Given the description of an element on the screen output the (x, y) to click on. 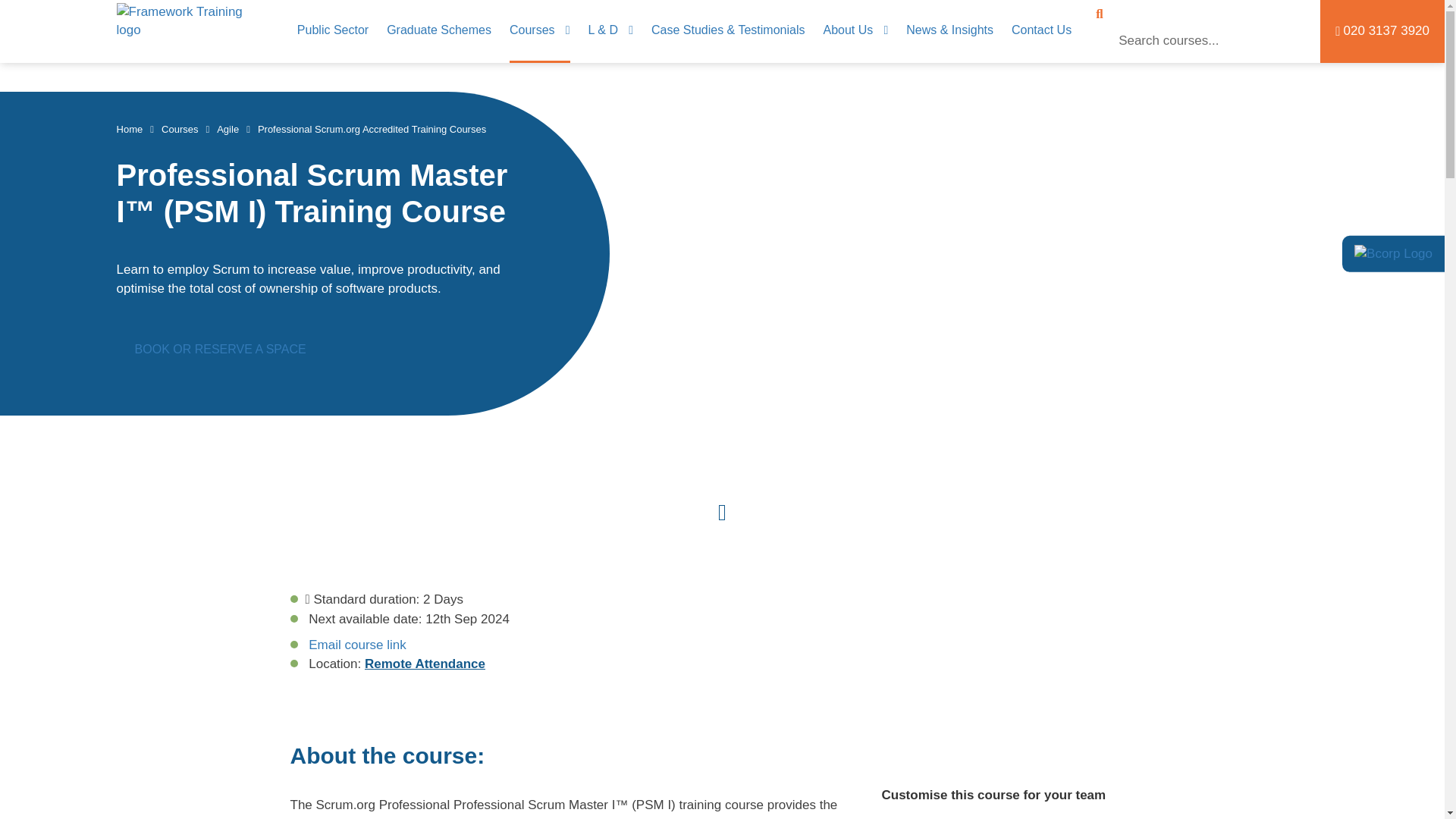
Public Sector (332, 30)
Graduate Schemes (439, 30)
About Us (855, 30)
Courses (539, 30)
Bcorp Logo (1393, 253)
Framework Training logo (186, 29)
